Given the description of an element on the screen output the (x, y) to click on. 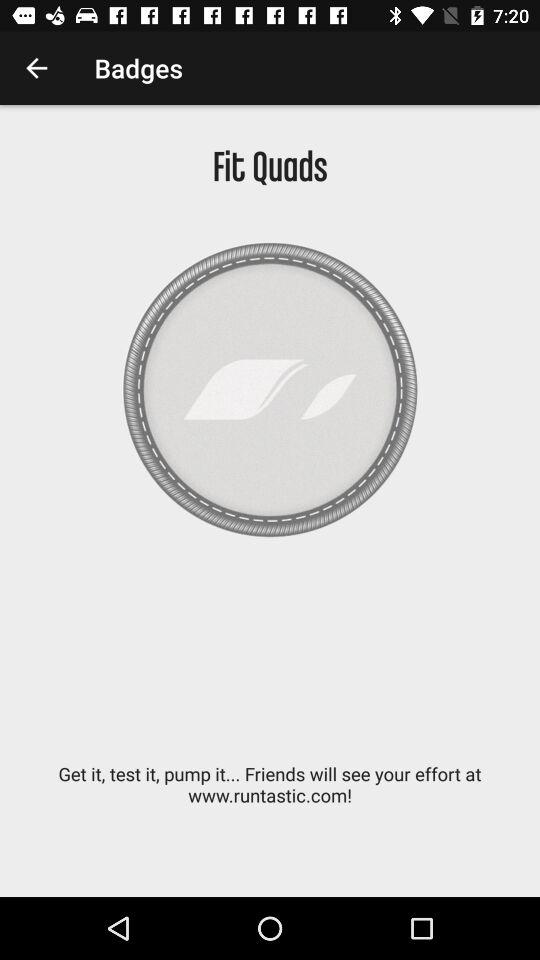
jump to the get it test item (270, 795)
